Given the description of an element on the screen output the (x, y) to click on. 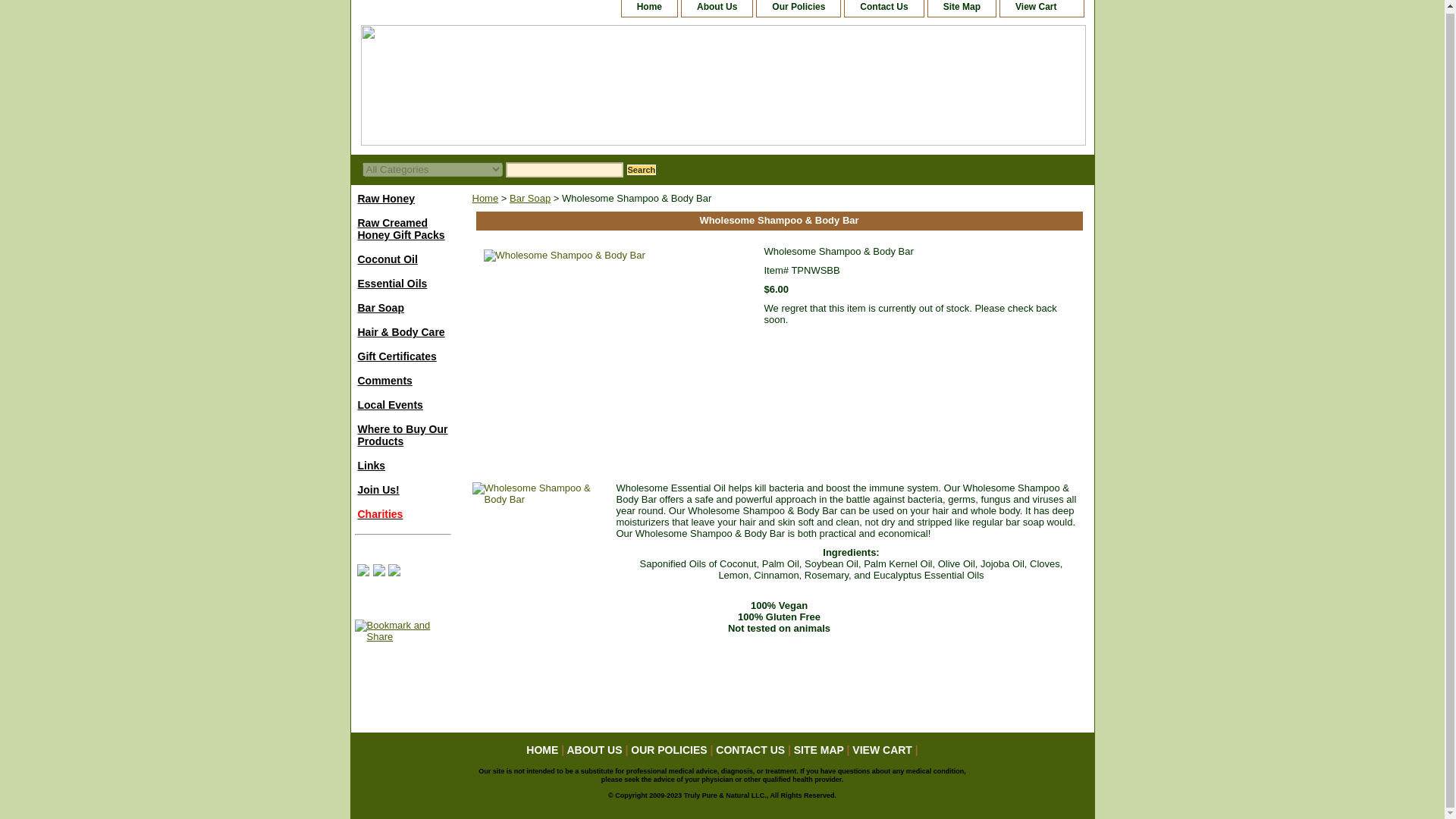
Links (402, 463)
Raw Creamed Honey Gift Packs (402, 227)
Search (641, 169)
Bar Soap (402, 306)
Charities (402, 512)
OUR POLICIES (668, 749)
ABOUT US (593, 749)
SITE MAP (818, 749)
Raw Honey (402, 197)
Home (649, 8)
